Given the description of an element on the screen output the (x, y) to click on. 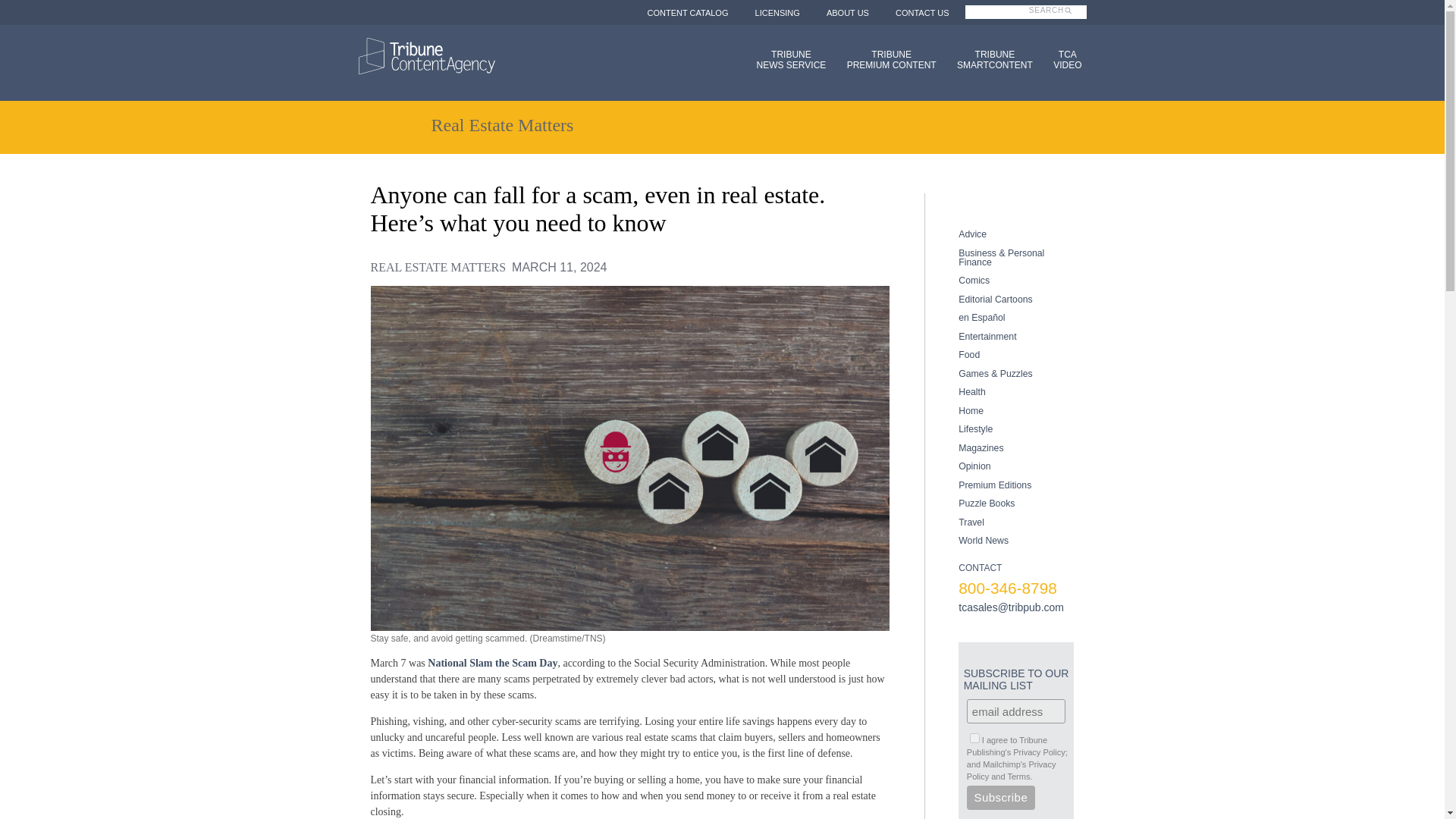
Search (1060, 18)
CONTACT US (922, 12)
CONTENT CATALOG (687, 12)
LICENSING (886, 59)
1125899906842624 (777, 12)
Subscribe (786, 59)
Search (974, 737)
